Given the description of an element on the screen output the (x, y) to click on. 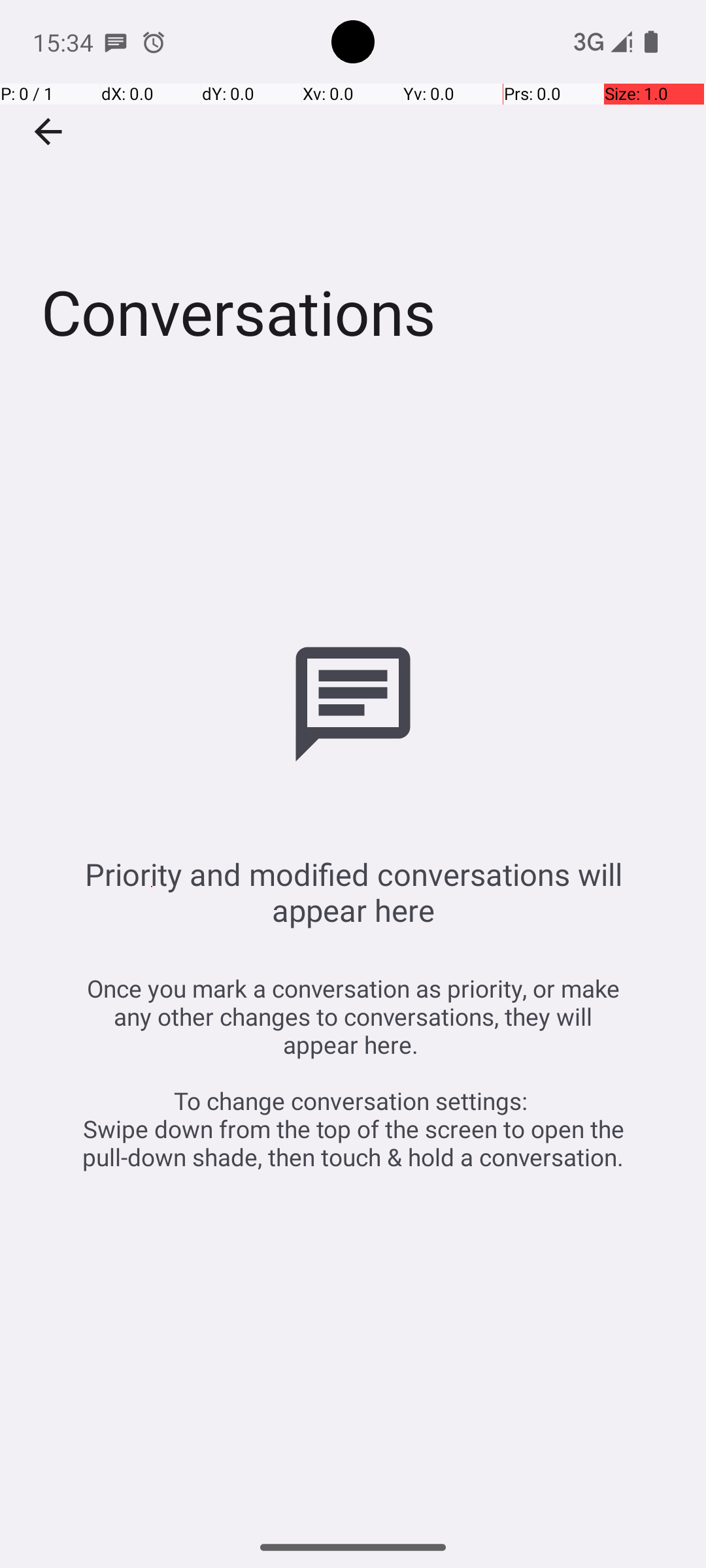
Priority and modified conversations will appear here Element type: android.widget.TextView (352, 891)
Once you mark a conversation as priority, or make any other changes to conversations, they will appear here. 

To change conversation settings: 
Swipe down from the top of the screen to open the pull-down shade, then touch & hold a conversation. Element type: android.widget.TextView (352, 1072)
